Given the description of an element on the screen output the (x, y) to click on. 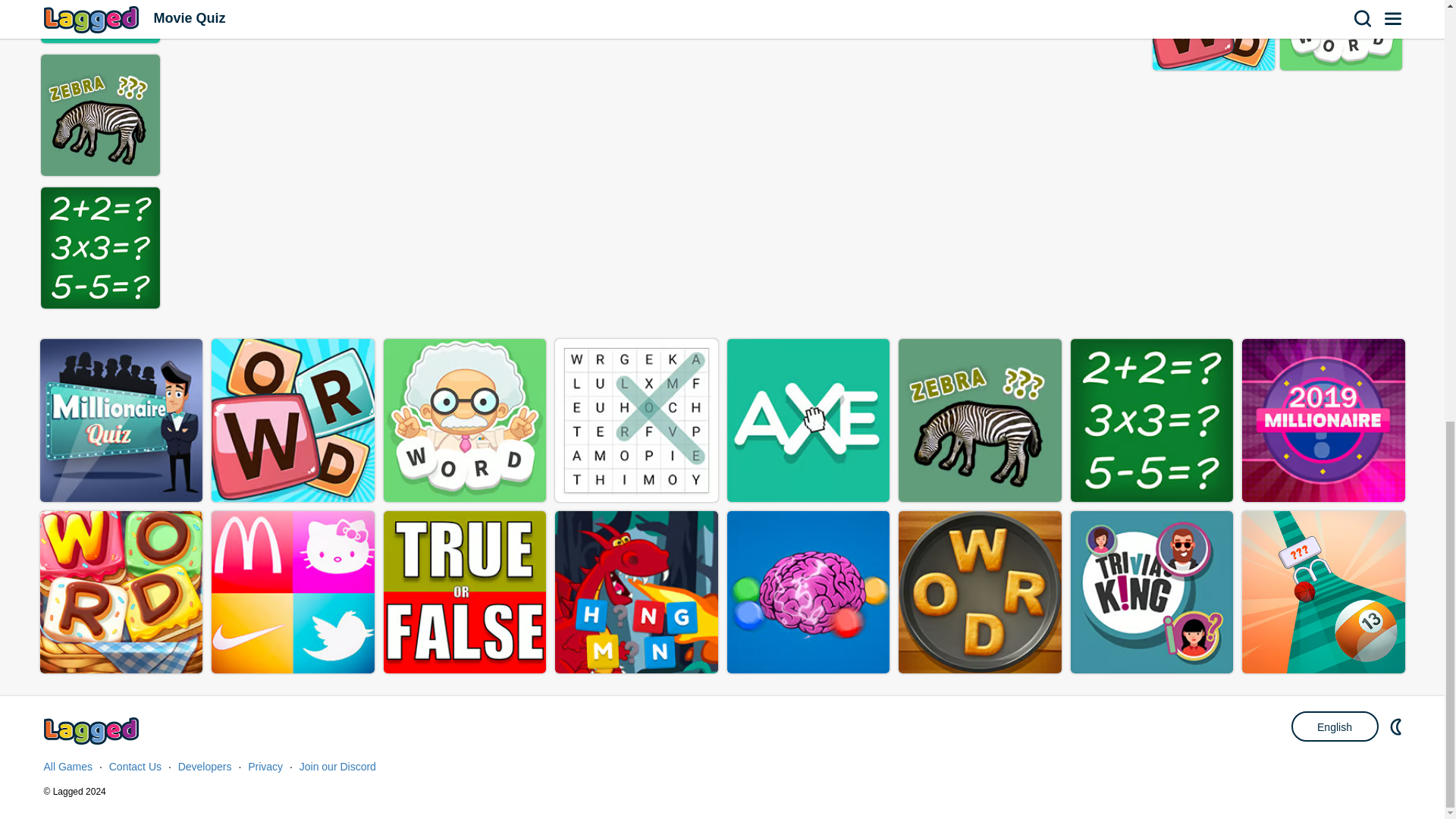
Lagged.com (92, 730)
